Given the description of an element on the screen output the (x, y) to click on. 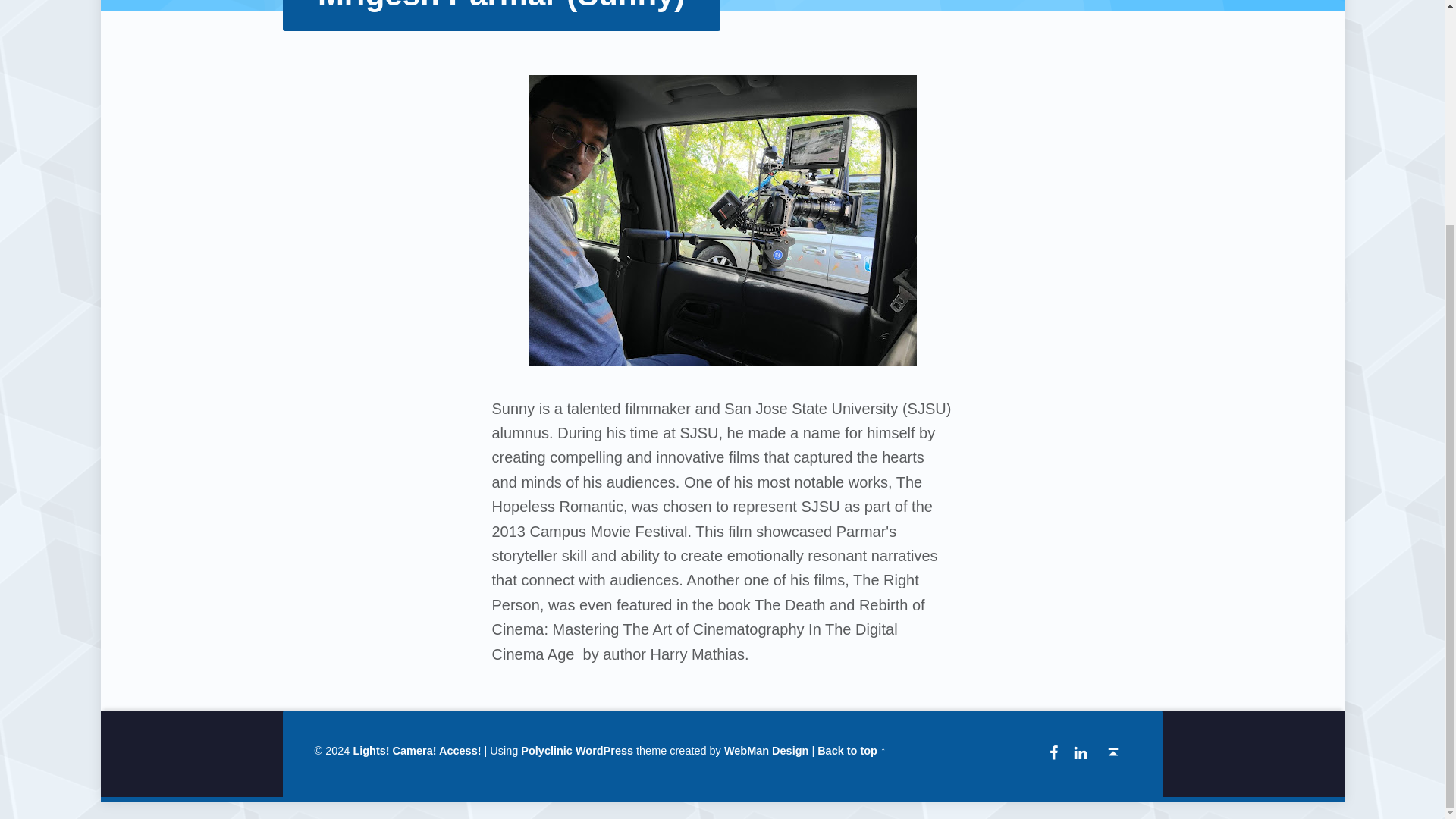
Back to top (1113, 752)
Lights! Camera! Access! (416, 750)
WordPress (604, 750)
Polyclinic (546, 750)
WebMan Design (765, 750)
Sunny (721, 220)
